Given the description of an element on the screen output the (x, y) to click on. 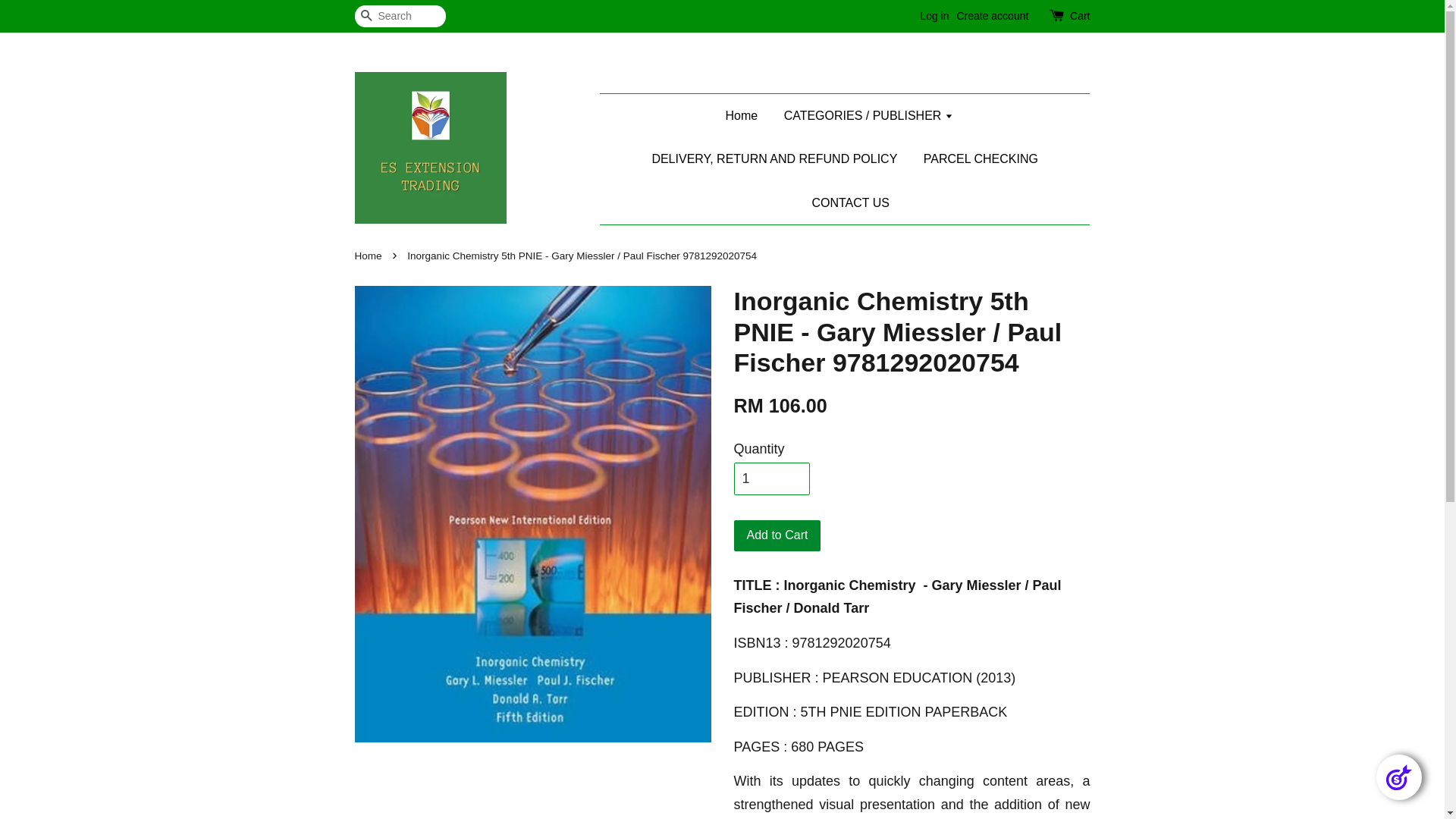
Home Element type: text (746, 115)
CONTACT US Element type: text (844, 202)
Add to Cart Element type: text (777, 535)
Log in Element type: text (933, 15)
Home Element type: text (369, 255)
Search Element type: text (365, 16)
DELIVERY, RETURN AND REFUND POLICY Element type: text (774, 158)
Cart Element type: text (1079, 16)
PARCEL CHECKING Element type: text (980, 158)
Create account Element type: text (992, 15)
CATEGORIES / PUBLISHER Element type: text (868, 115)
